Given the description of an element on the screen output the (x, y) to click on. 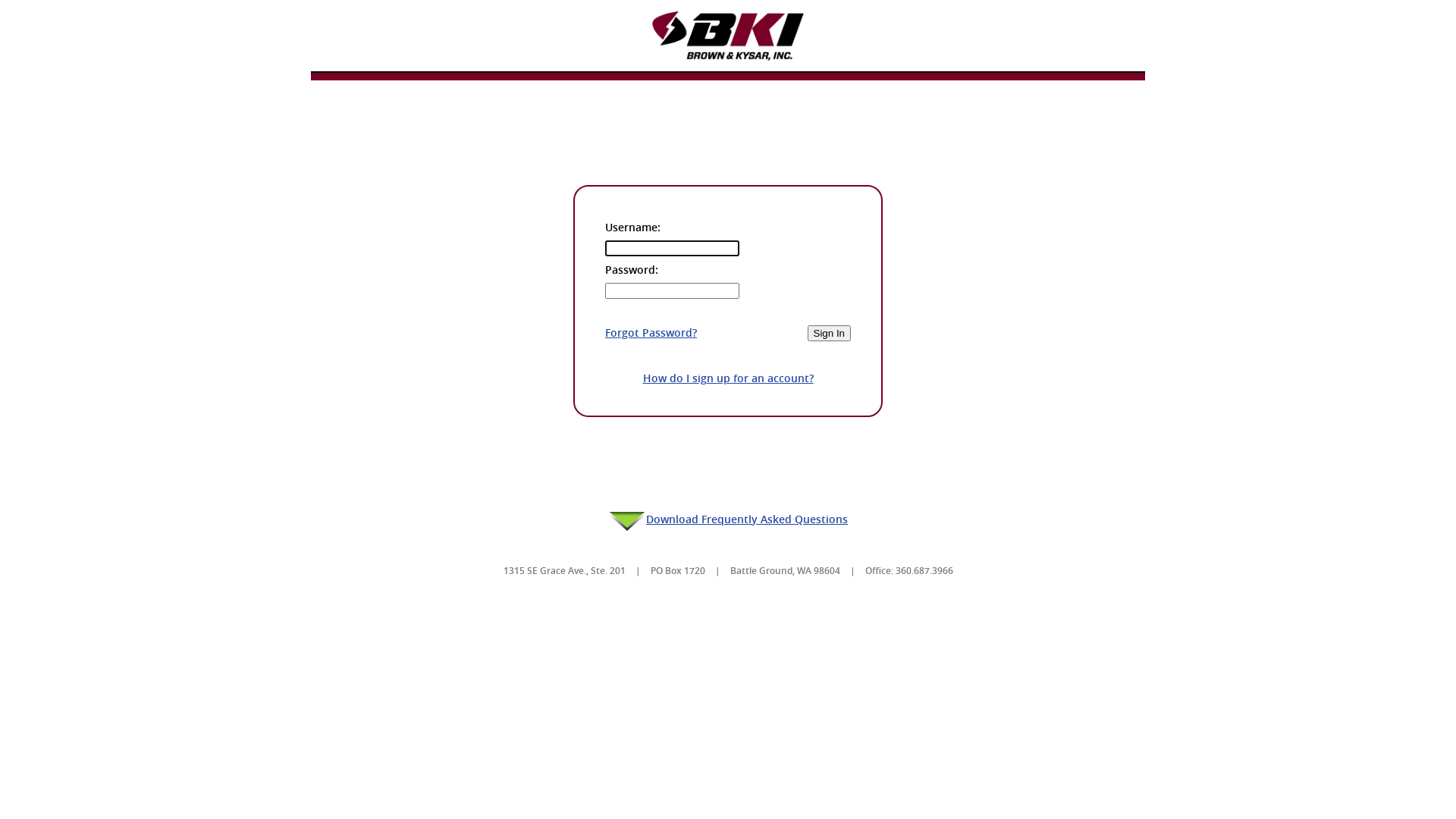
Brown & Kysar Inc. Element type: hover (727, 35)
Sign In Element type: text (828, 333)
Download Frequently Asked Questions Element type: text (727, 518)
Forgot Password? Element type: text (650, 332)
How do I sign up for an account? Element type: text (728, 377)
